Given the description of an element on the screen output the (x, y) to click on. 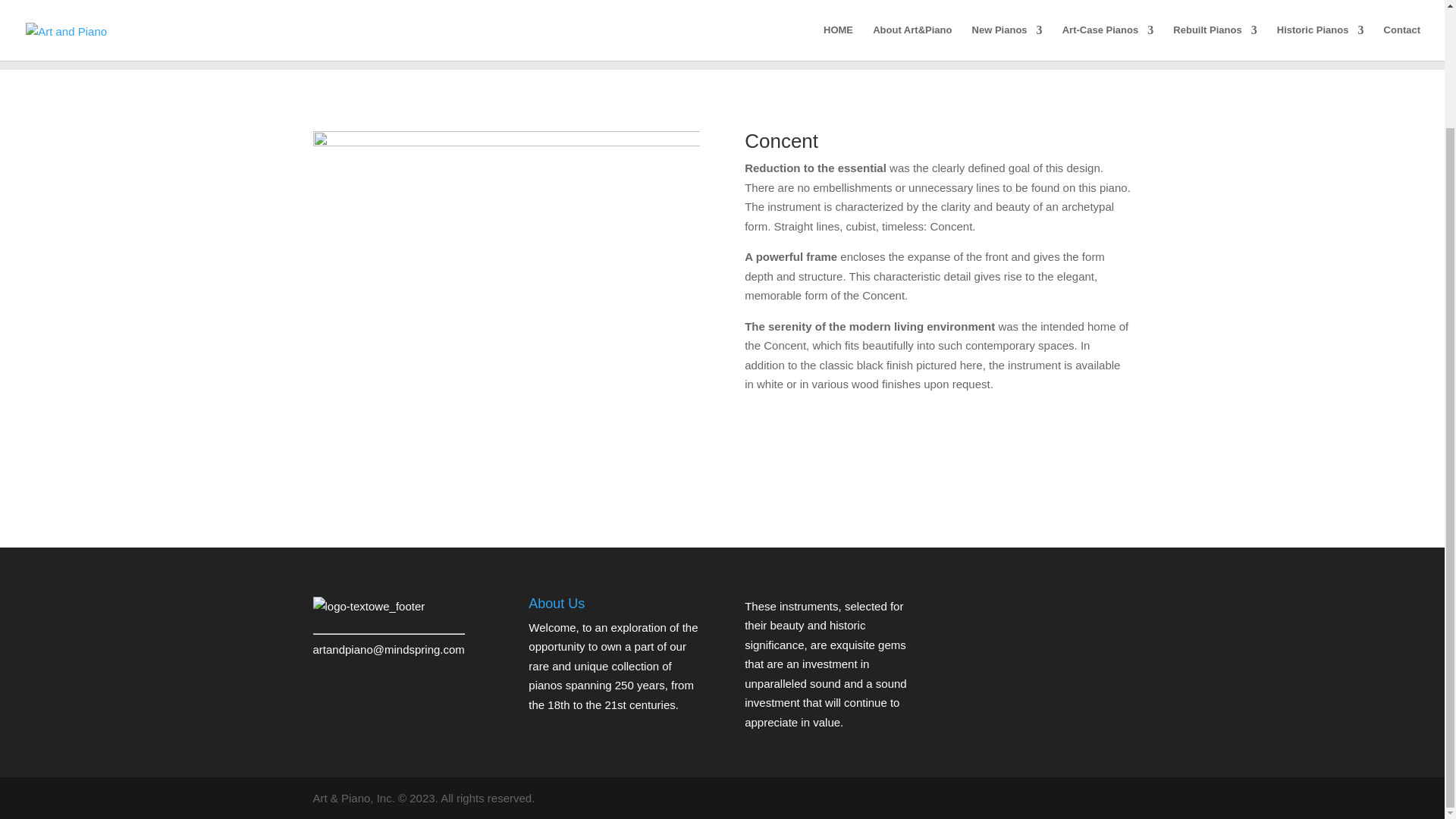
Concent-1a (505, 287)
